Given the description of an element on the screen output the (x, y) to click on. 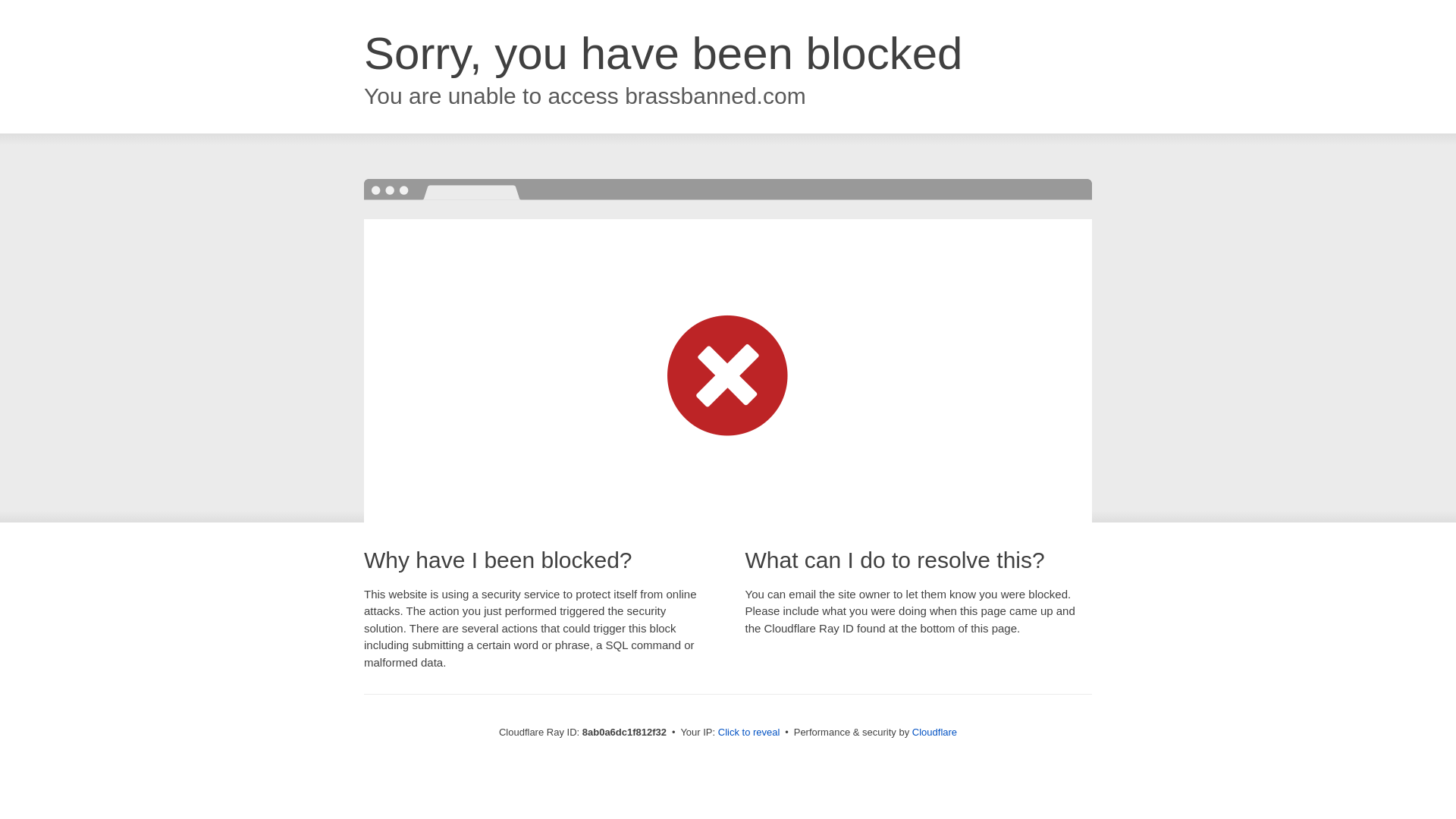
Cloudflare (934, 731)
Click to reveal (748, 732)
